Given the description of an element on the screen output the (x, y) to click on. 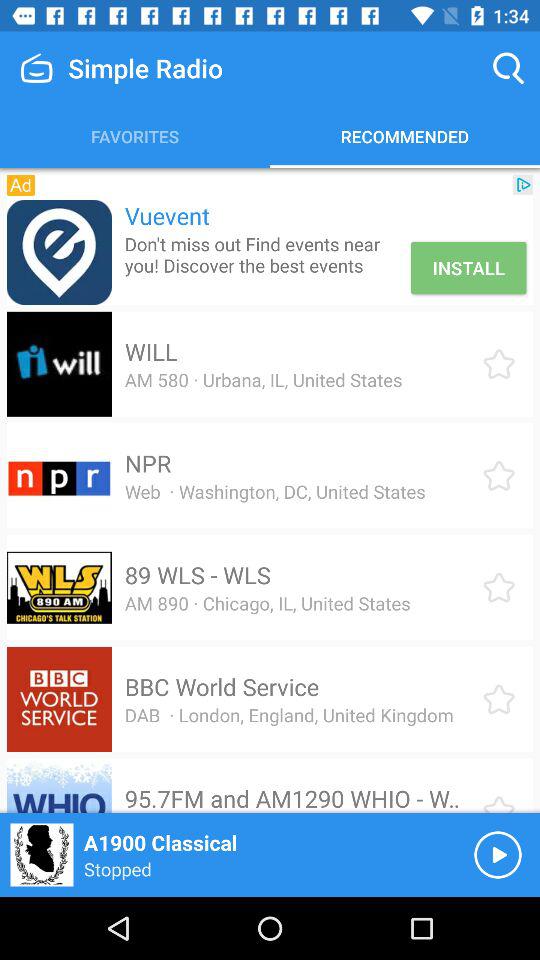
press am 580 urbana (263, 379)
